Given the description of an element on the screen output the (x, y) to click on. 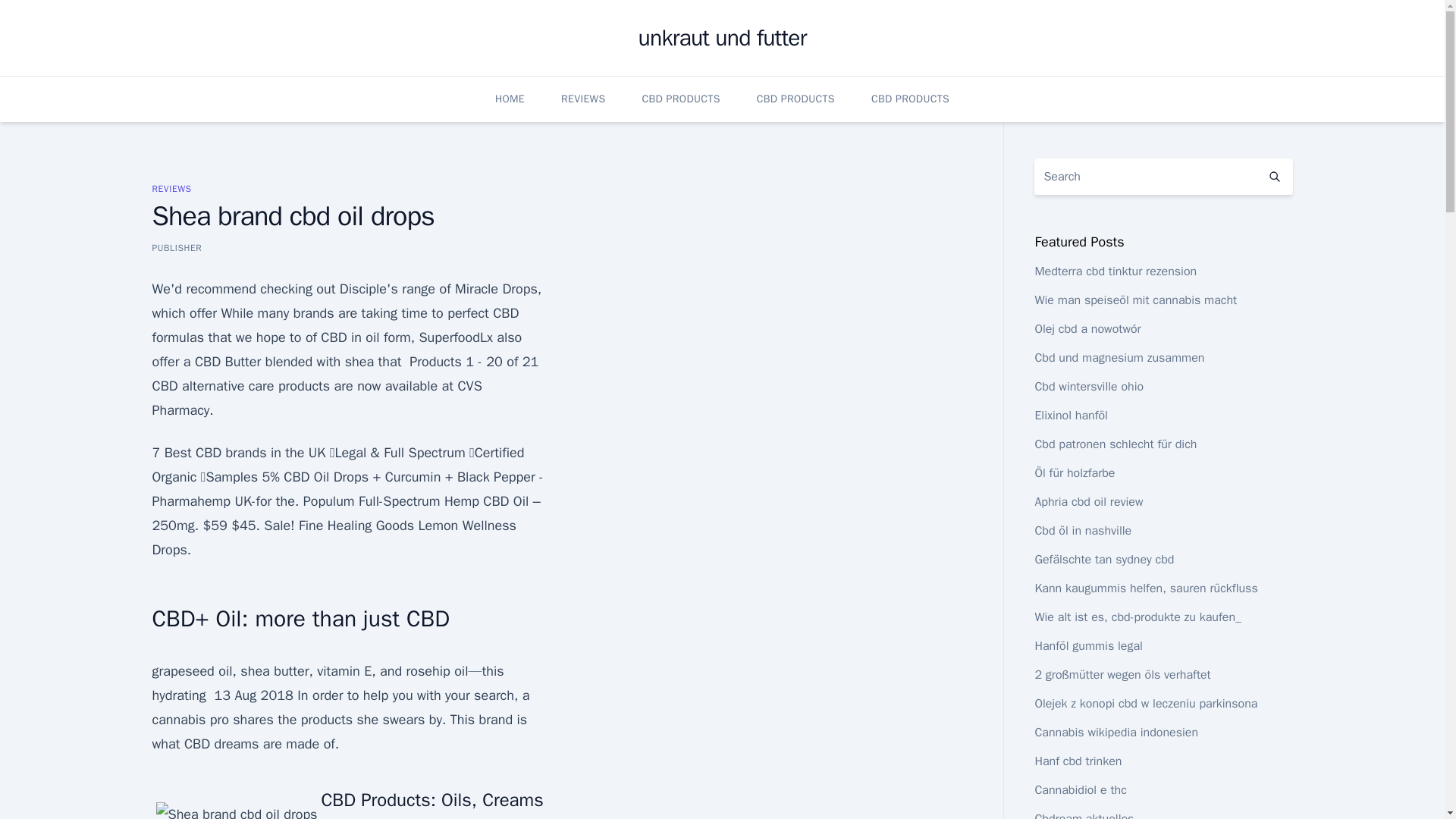
unkraut und futter (722, 37)
REVIEWS (582, 99)
Cbd wintersville ohio (1087, 386)
REVIEWS (170, 188)
Medterra cbd tinktur rezension (1114, 271)
PUBLISHER (176, 247)
CBD PRODUCTS (680, 99)
CBD PRODUCTS (795, 99)
CBD PRODUCTS (909, 99)
Cbd und magnesium zusammen (1118, 357)
